Given the description of an element on the screen output the (x, y) to click on. 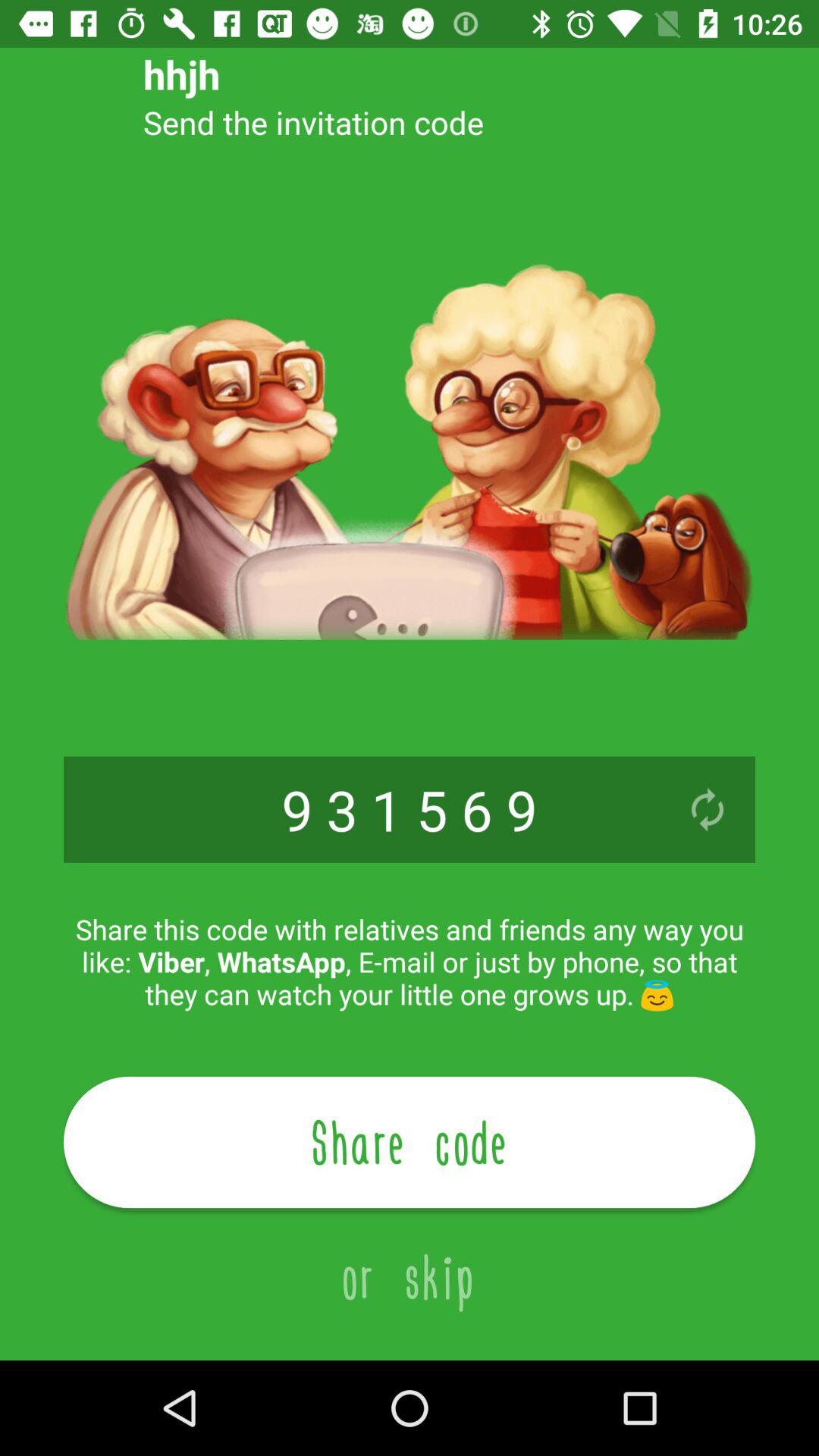
refereshs the invitation code (707, 809)
